Given the description of an element on the screen output the (x, y) to click on. 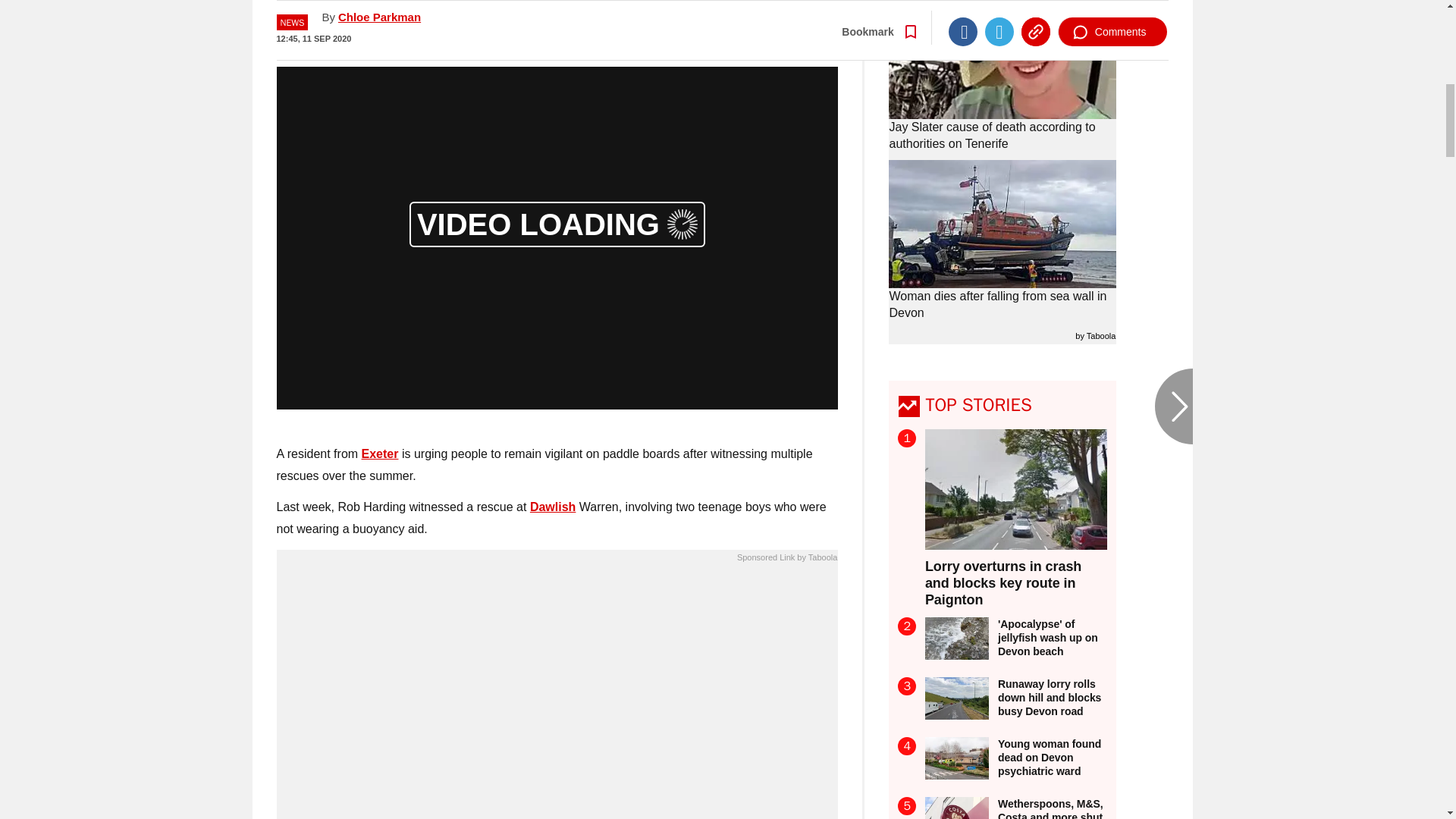
Go (730, 17)
